Given the description of an element on the screen output the (x, y) to click on. 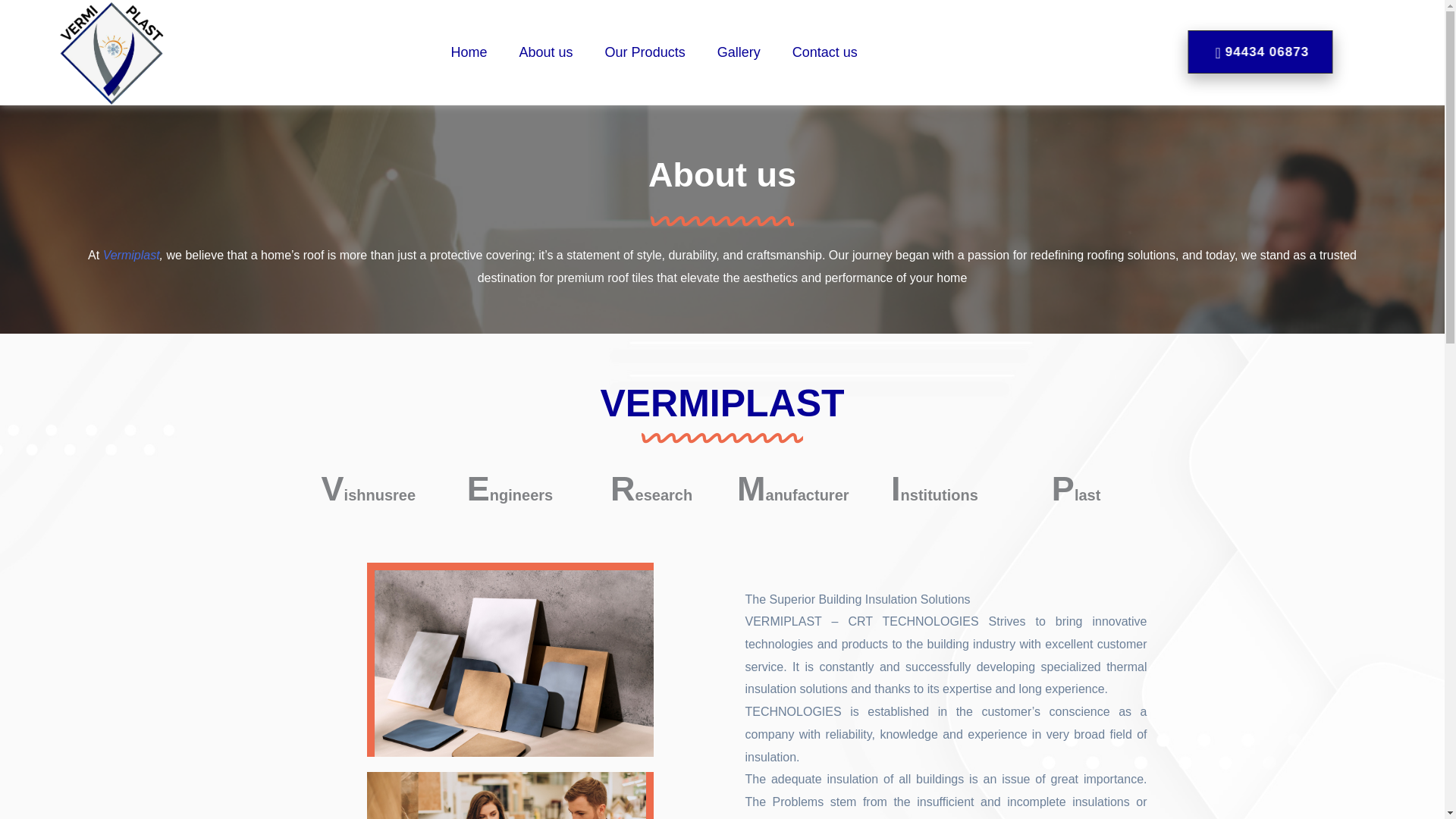
94434 06873 (1260, 50)
Contact us (824, 52)
Our Products (645, 52)
Home (469, 52)
Gallery (738, 52)
About us (546, 52)
Vermiplast (131, 274)
